Given the description of an element on the screen output the (x, y) to click on. 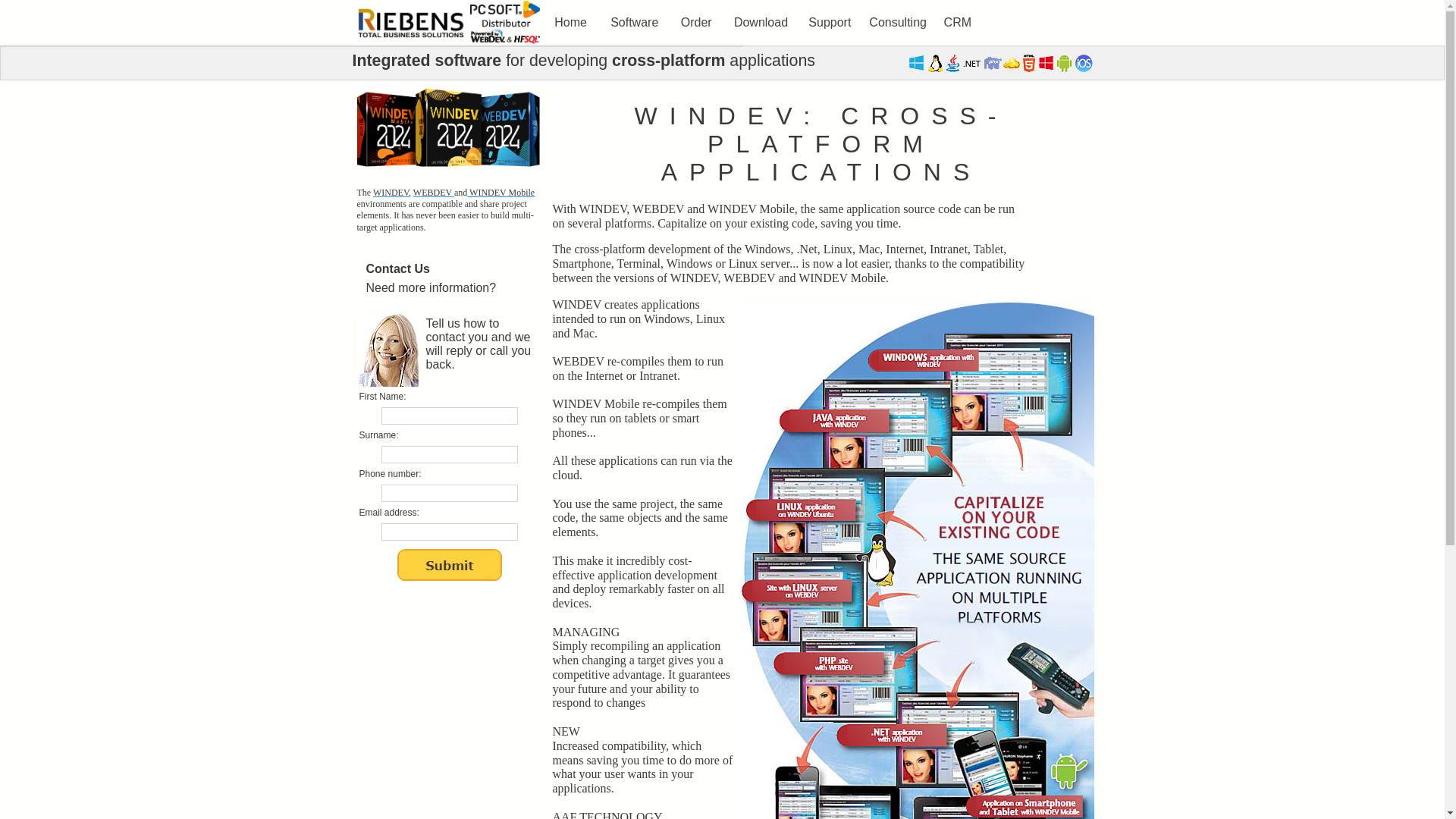
CRM (956, 22)
Software (633, 22)
Order (695, 22)
WEBDEV (433, 192)
Consulting (897, 22)
Download (760, 22)
WINDEV (390, 192)
WINDEV Mobile (500, 192)
Home (570, 22)
Support (829, 22)
